Given the description of an element on the screen output the (x, y) to click on. 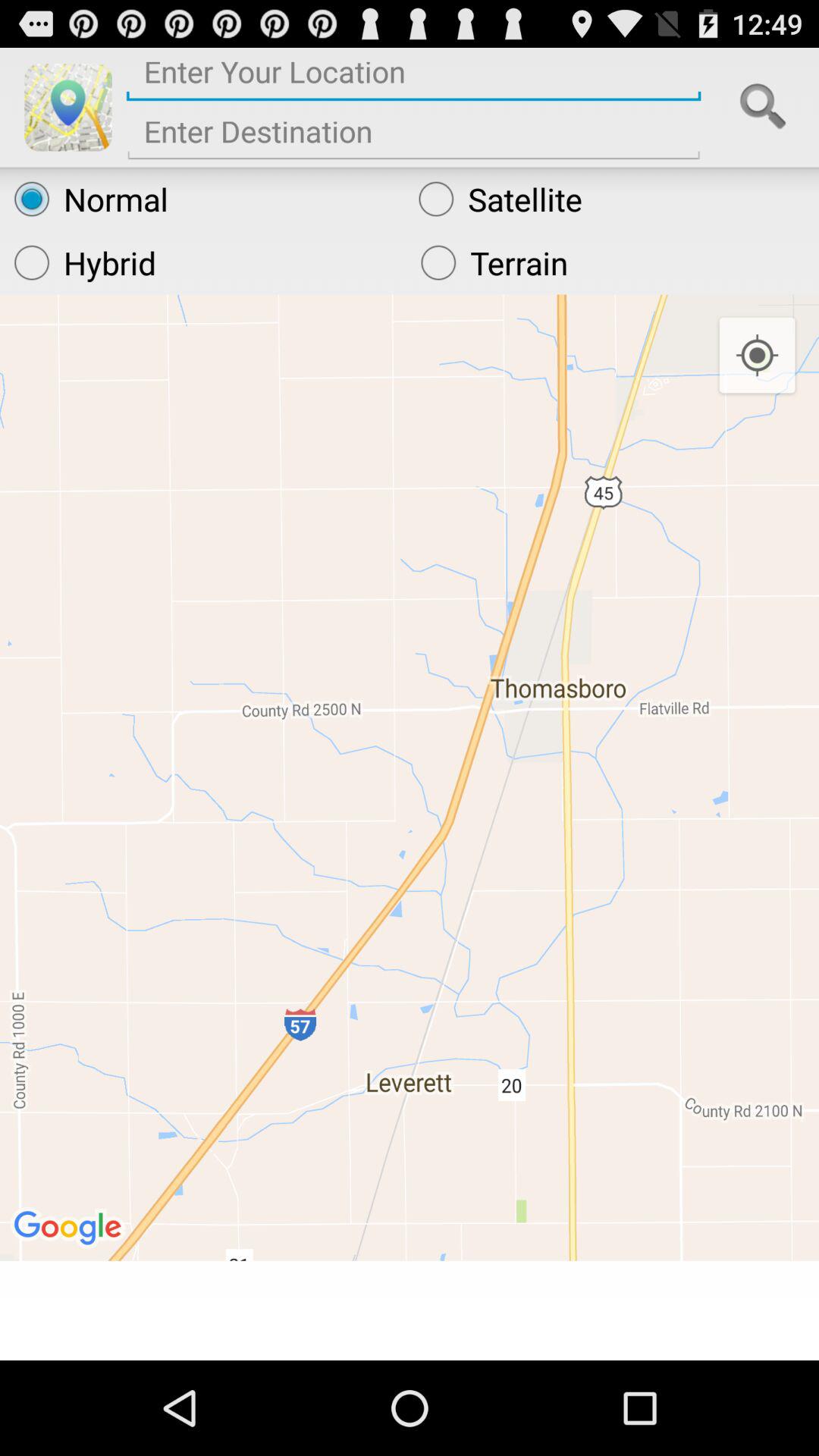
current location (413, 77)
